Given the description of an element on the screen output the (x, y) to click on. 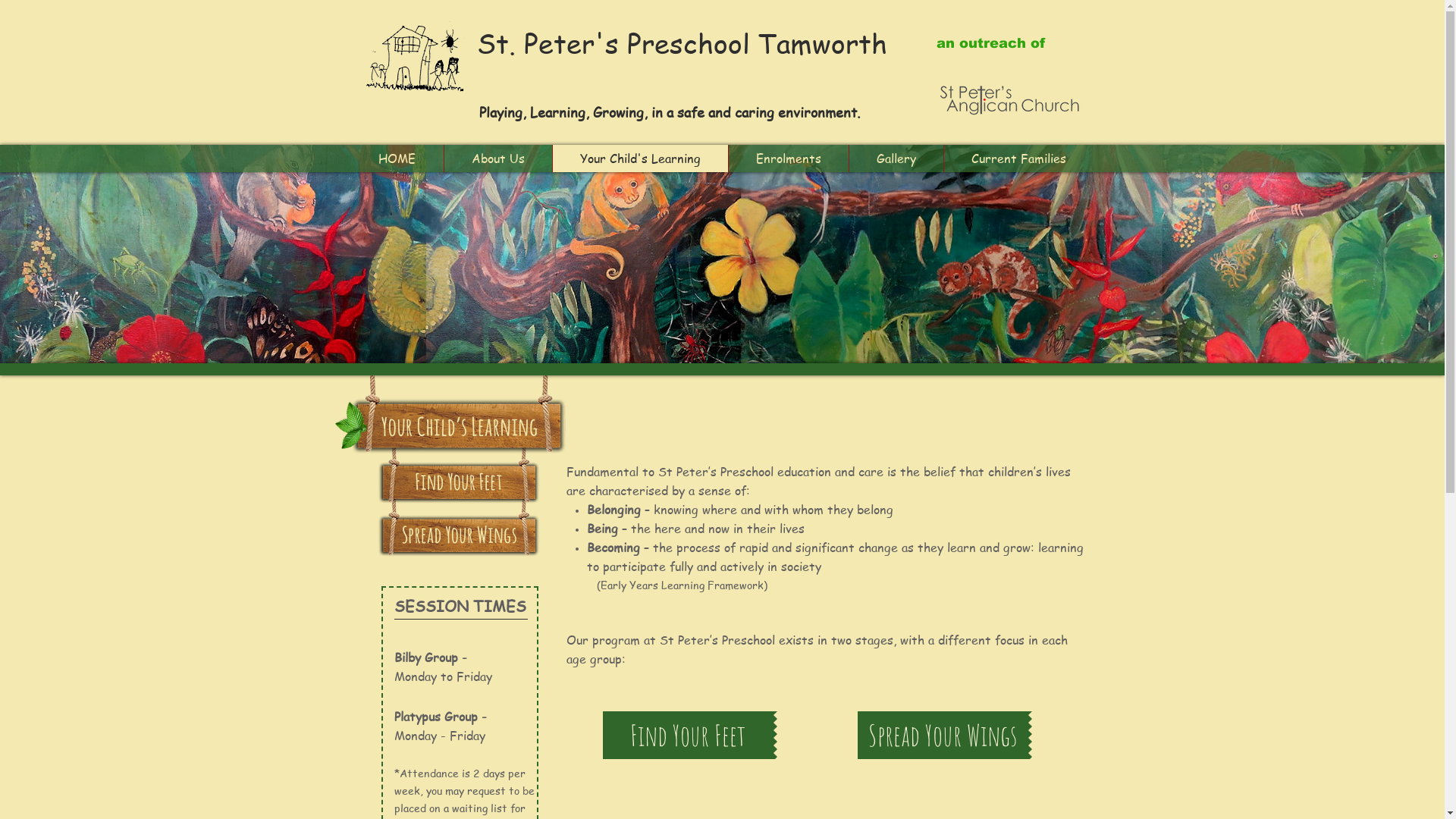
Current Families Element type: text (1018, 158)
About Us Element type: text (496, 158)
Find Your Feet Element type: text (687, 735)
Gallery Element type: text (894, 158)
Your Child's Learning Element type: text (640, 158)
Page title banner blank.png Element type: hover (458, 522)
HOME Element type: text (396, 158)
Enrolments Element type: text (788, 158)
Page title banner blank.png Element type: hover (458, 469)
Page title banner blank.png Element type: hover (458, 408)
Spread Your Wings Element type: text (941, 735)
